Given the description of an element on the screen output the (x, y) to click on. 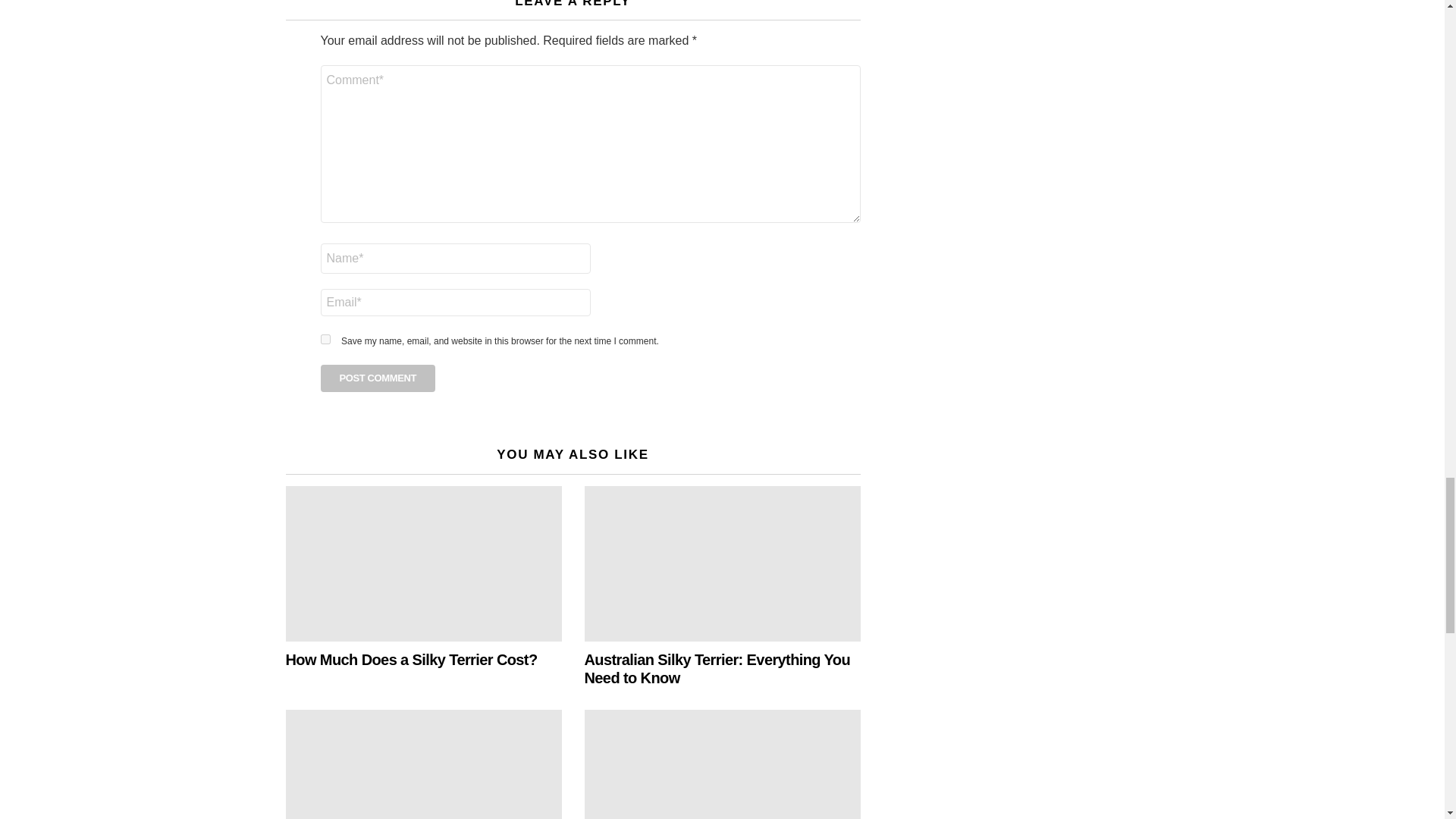
yes (325, 338)
Post Comment (377, 378)
Australian Silky Terrier: Dog Breed Information (422, 764)
Australian Silky Terrier: Everything You Need to Know (721, 563)
How Much Does a Silky Terrier Cost? (422, 563)
